Given the description of an element on the screen output the (x, y) to click on. 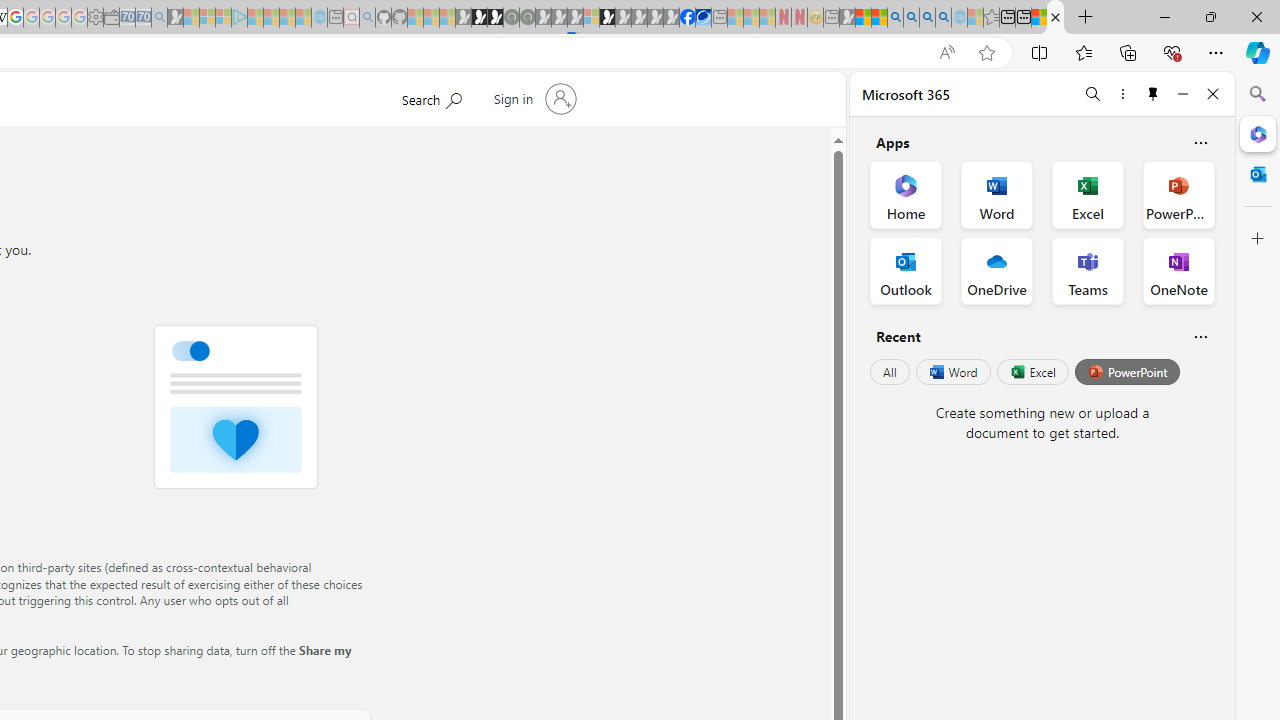
OneNote Office App (1178, 270)
Sign in to your account - Sleeping (591, 17)
PowerPoint Office App (1178, 194)
Bing AI - Search (895, 17)
Home Office App (906, 194)
